Given the description of an element on the screen output the (x, y) to click on. 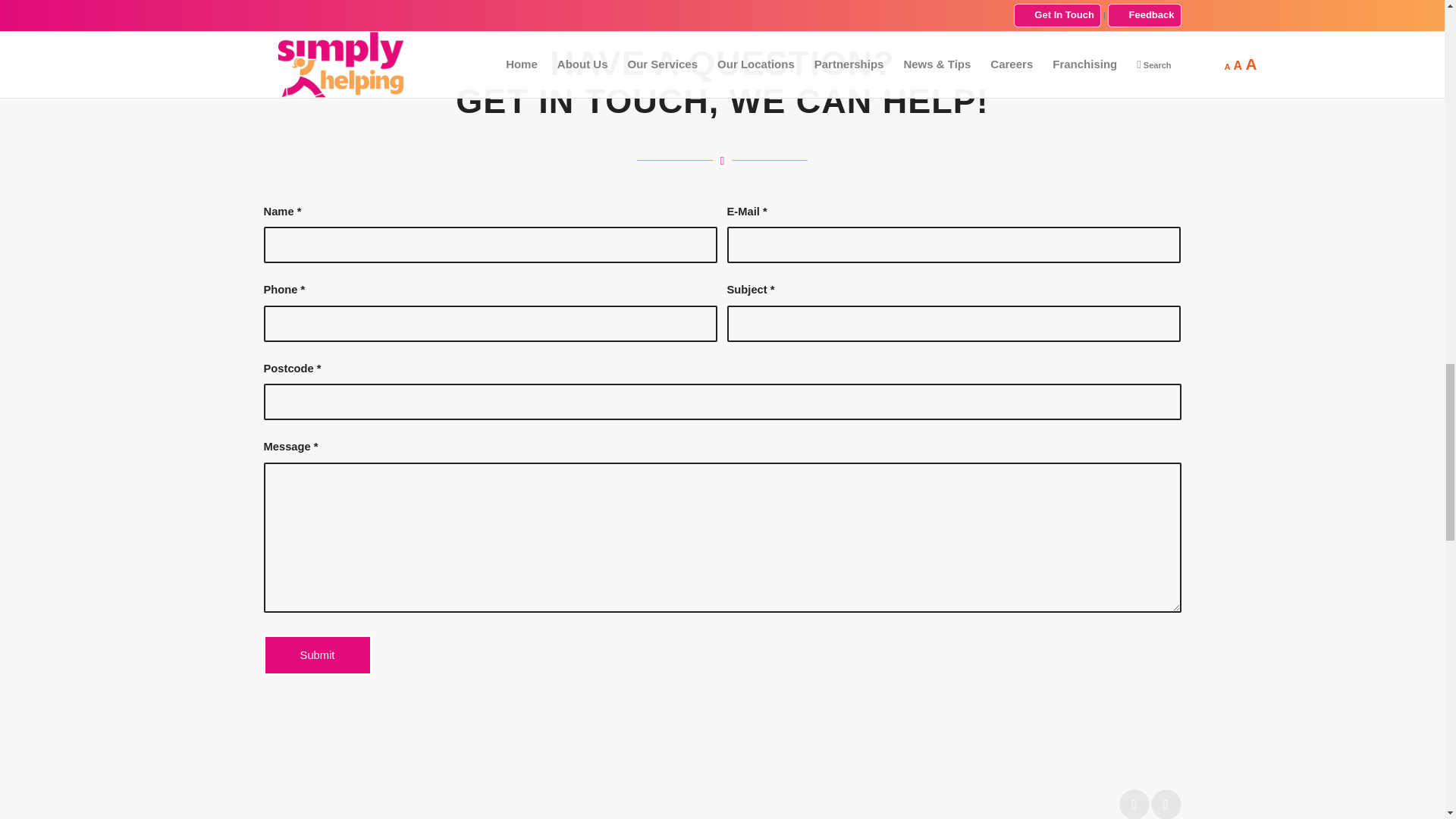
Submit (317, 654)
Previous (1134, 804)
Submit (317, 654)
Next (1165, 804)
